Given the description of an element on the screen output the (x, y) to click on. 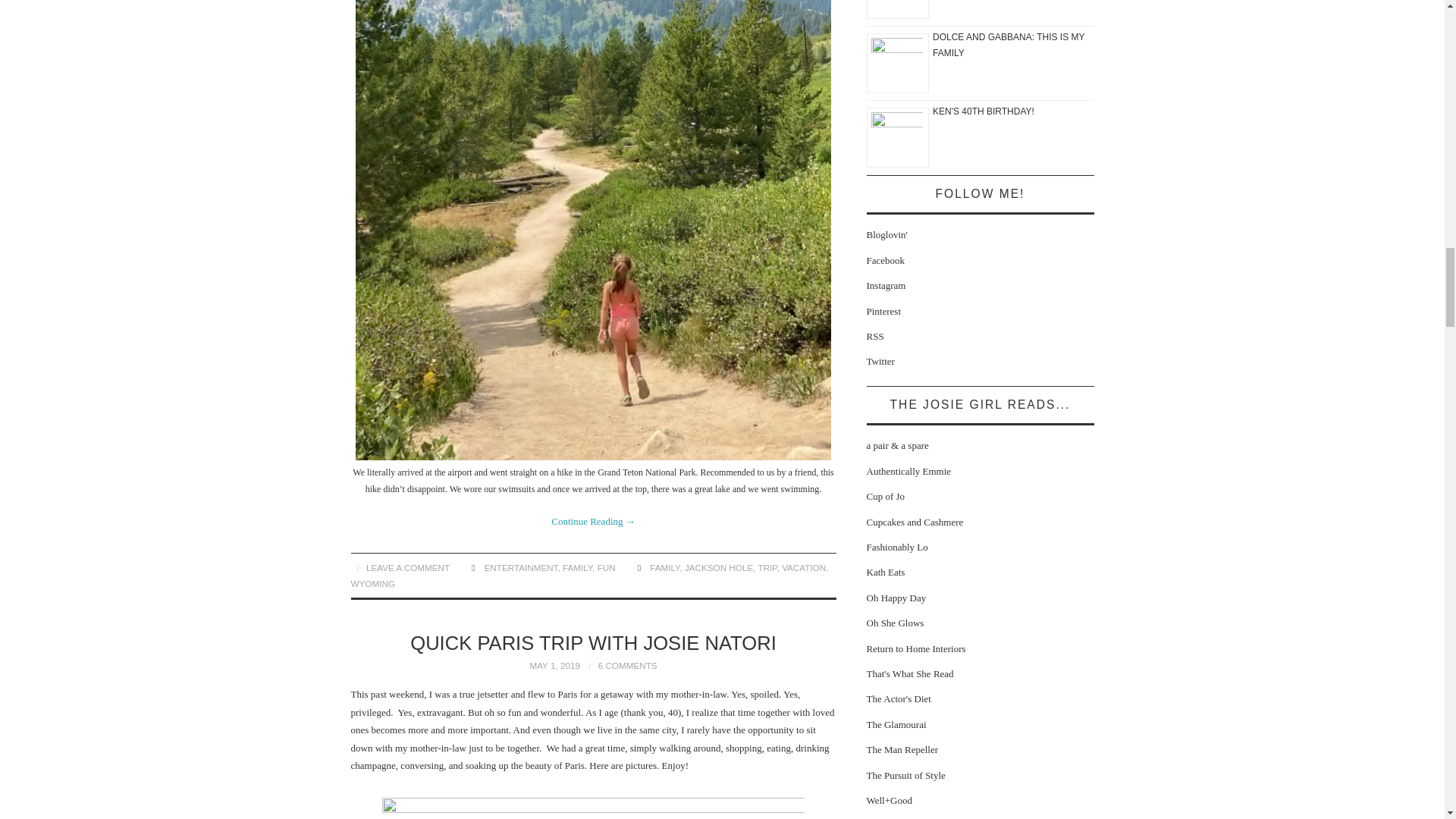
LEAVE A COMMENT (407, 567)
